Given the description of an element on the screen output the (x, y) to click on. 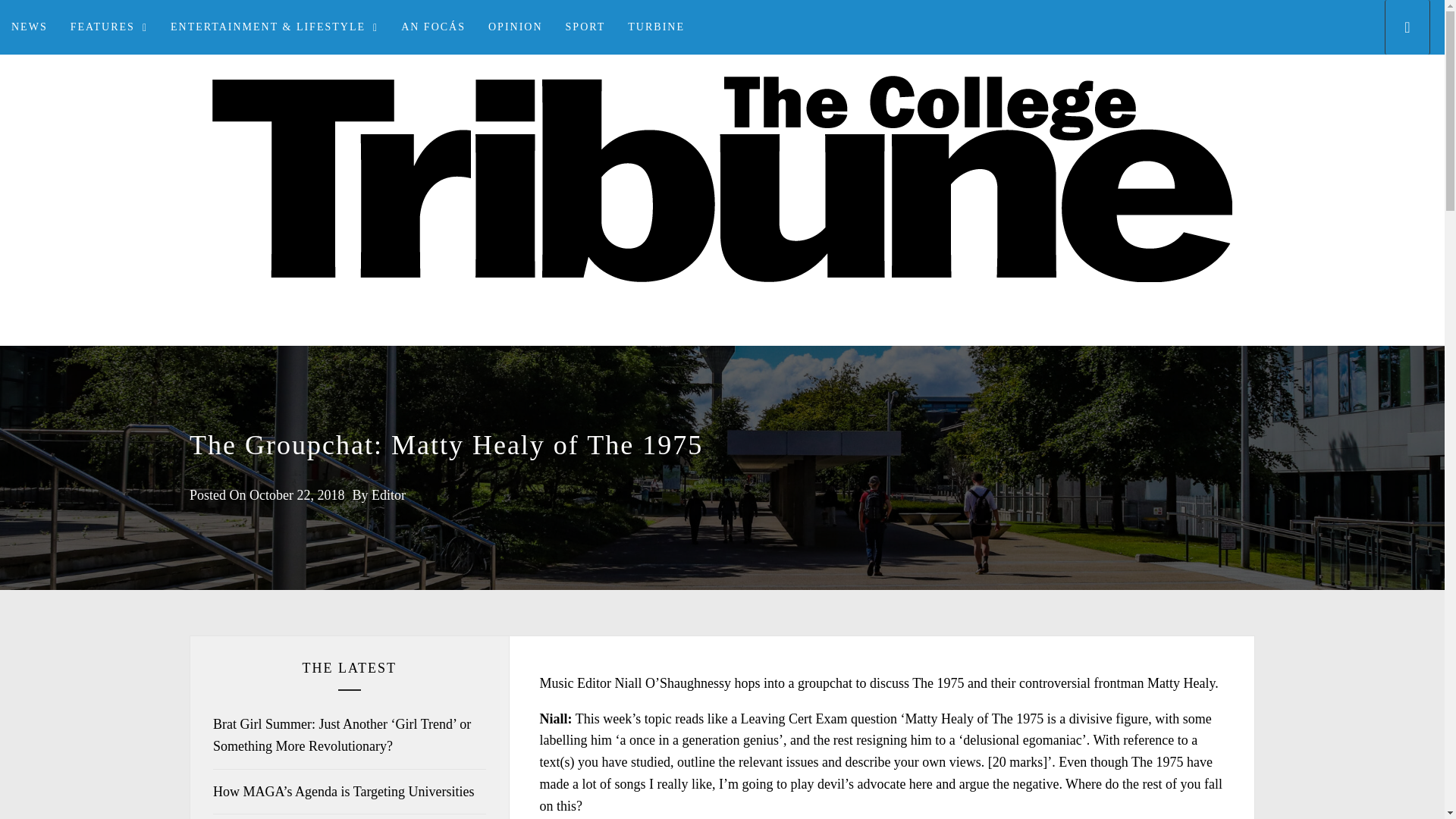
NEWS (29, 27)
TURBINE (655, 27)
OPINION (515, 27)
Search (797, 407)
FEATURES (108, 27)
COLLEGE TRIBUNE (721, 344)
SPORT (585, 27)
October 22, 2018 (295, 494)
Editor (388, 494)
